Given the description of an element on the screen output the (x, y) to click on. 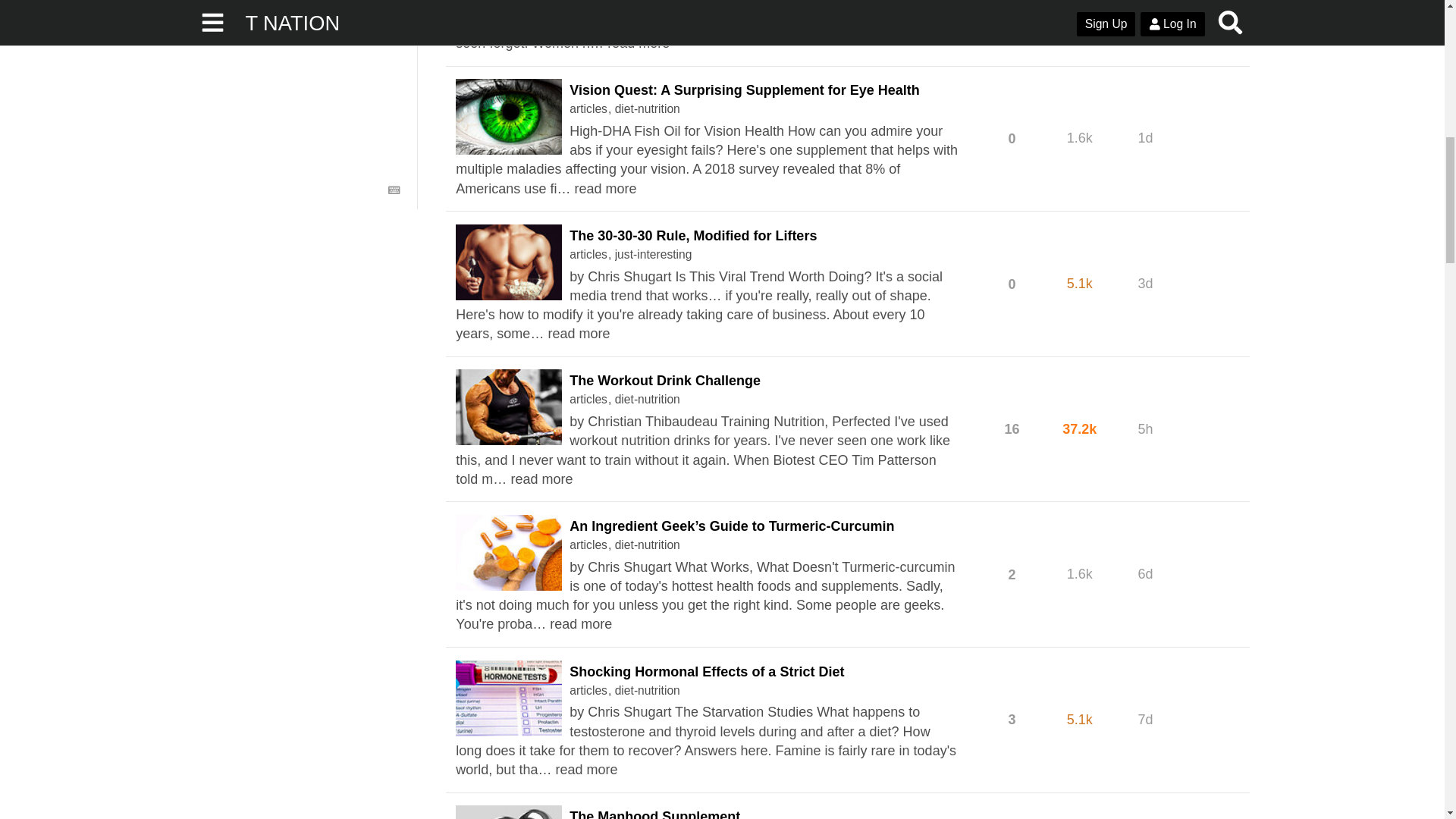
18h (1144, 6)
0 (1012, 5)
Keyboard Shortcuts (394, 190)
Vision Quest: A Surprising Supplement for Eye Health (743, 89)
